Given the description of an element on the screen output the (x, y) to click on. 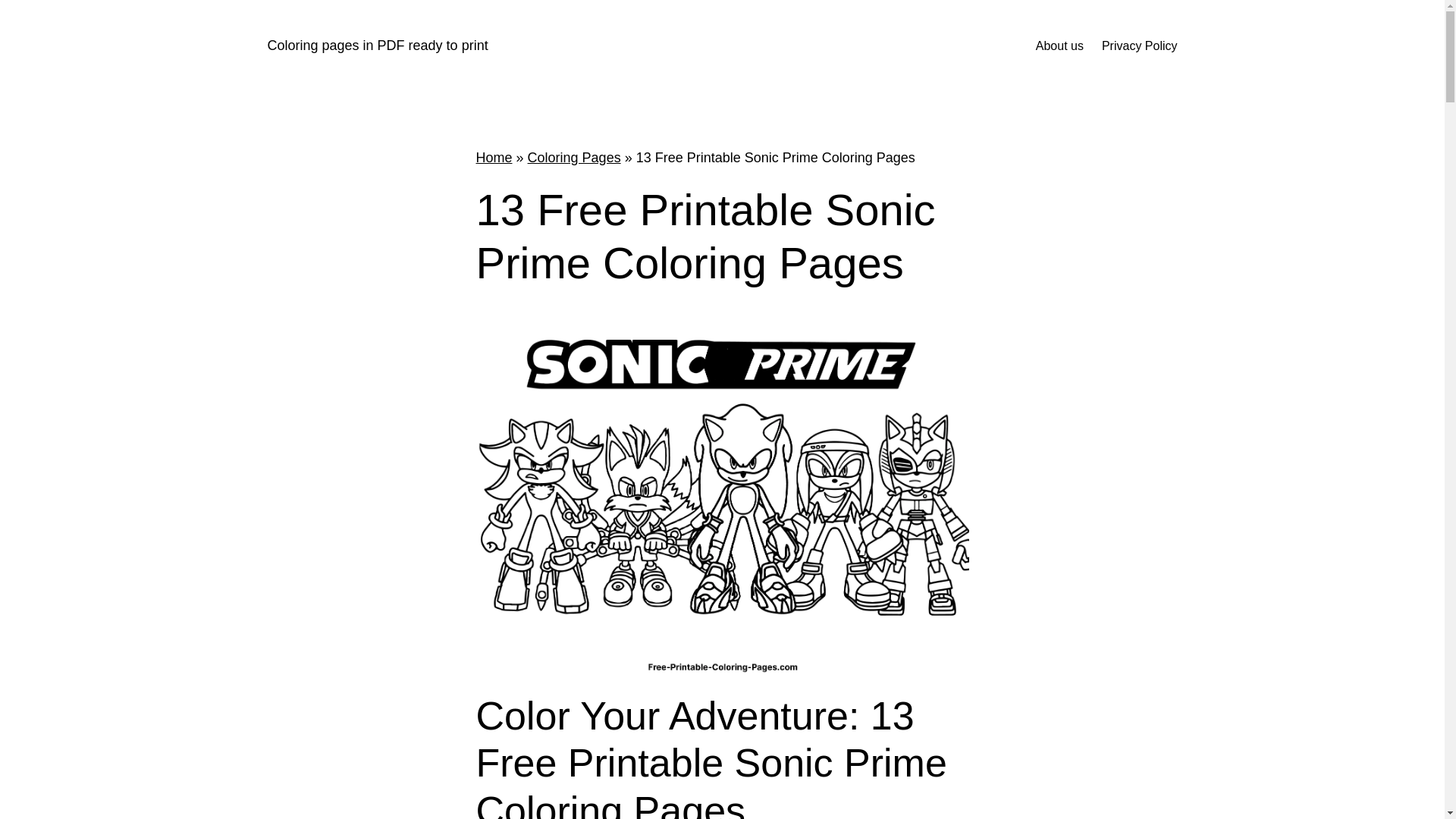
Coloring pages in PDF ready to print (376, 45)
Coloring Pages (574, 157)
About us (1059, 46)
Coloring Pages (574, 157)
Privacy Policy (1139, 46)
Home (494, 157)
Home (494, 157)
